Given the description of an element on the screen output the (x, y) to click on. 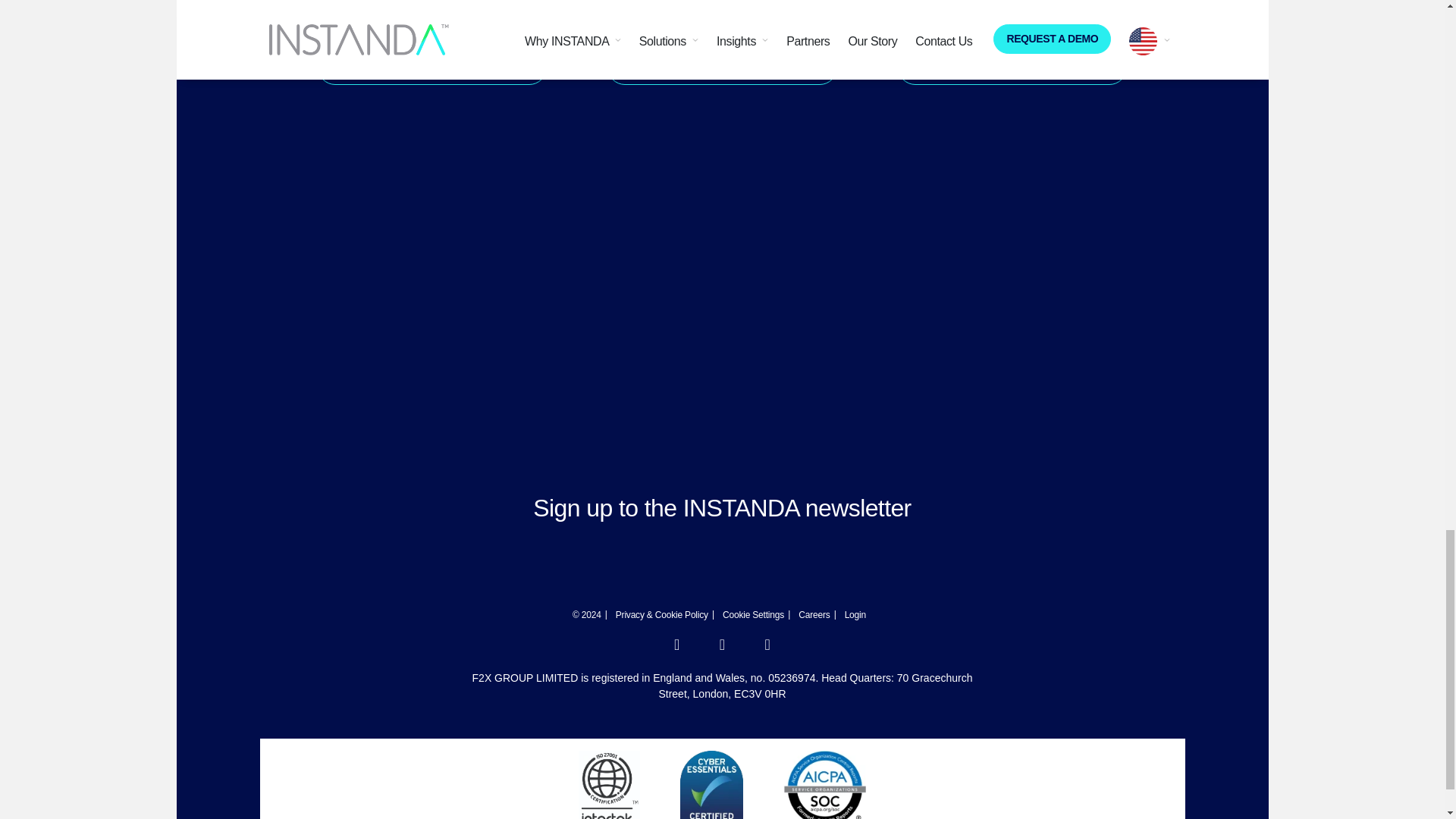
YouTube (767, 645)
LinkedIn (676, 645)
Twitter (721, 645)
